Given the description of an element on the screen output the (x, y) to click on. 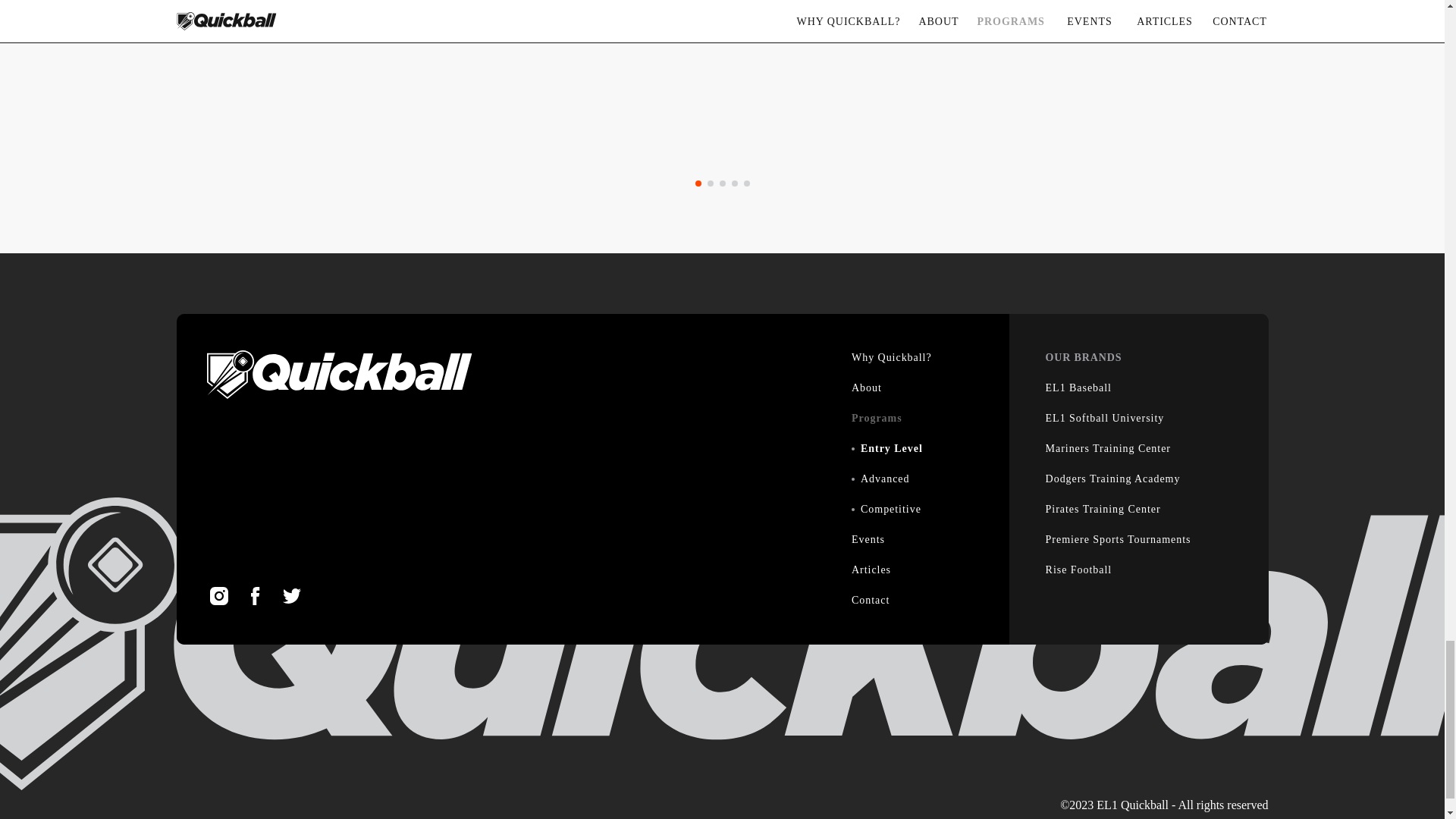
Contact (870, 600)
Entry Level (891, 448)
DRAG (60, 222)
Why Quickball? (891, 357)
Premiere Sports Tournaments (1118, 539)
Competitive (890, 509)
Articles (871, 570)
Events (868, 539)
Dodgers Training Academy (1112, 478)
Pirates Training Center (1102, 509)
